Given the description of an element on the screen output the (x, y) to click on. 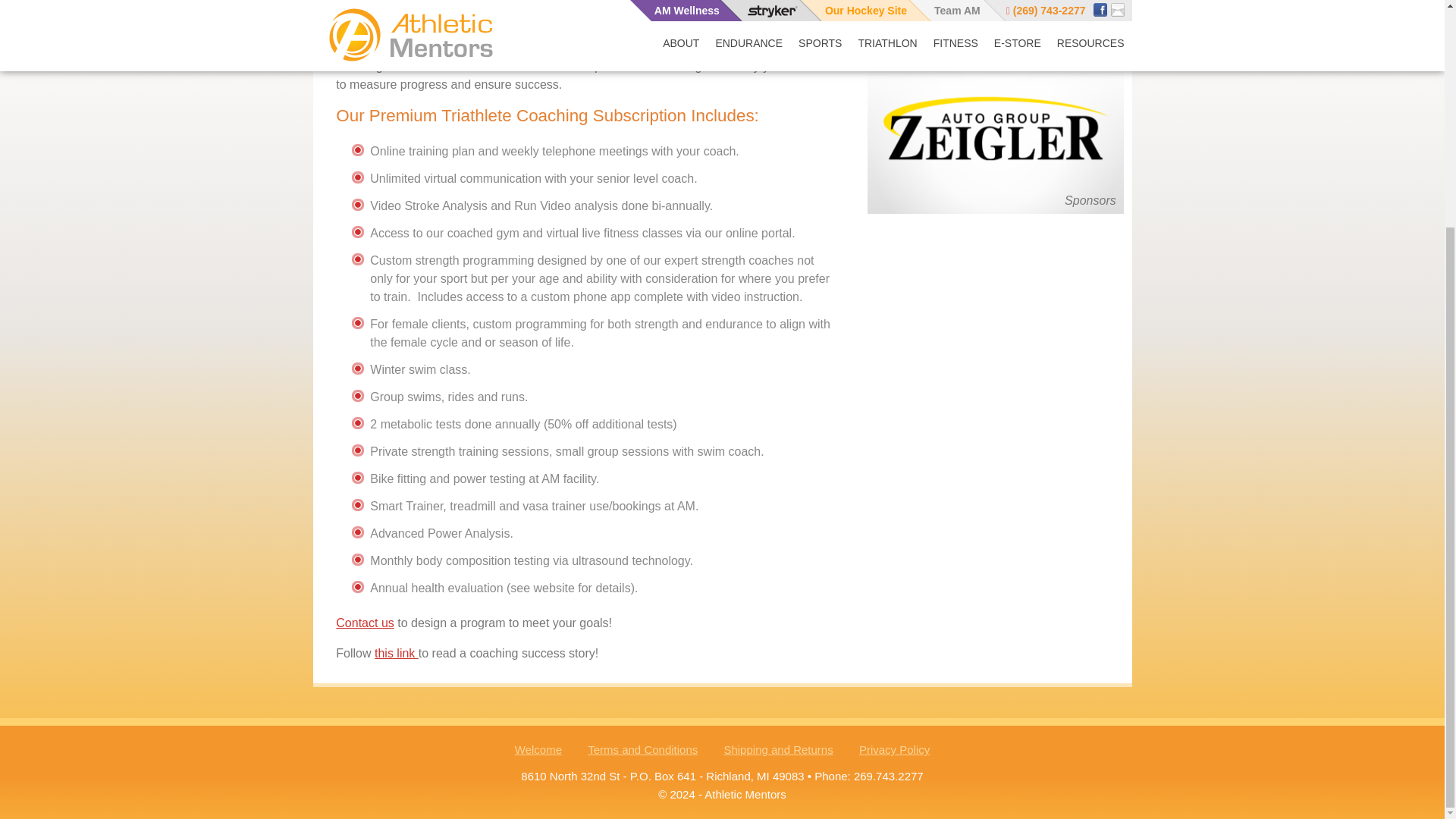
Contact Us (364, 622)
2019-Sponsor-Ziegler (995, 127)
Search (1085, 25)
